Given the description of an element on the screen output the (x, y) to click on. 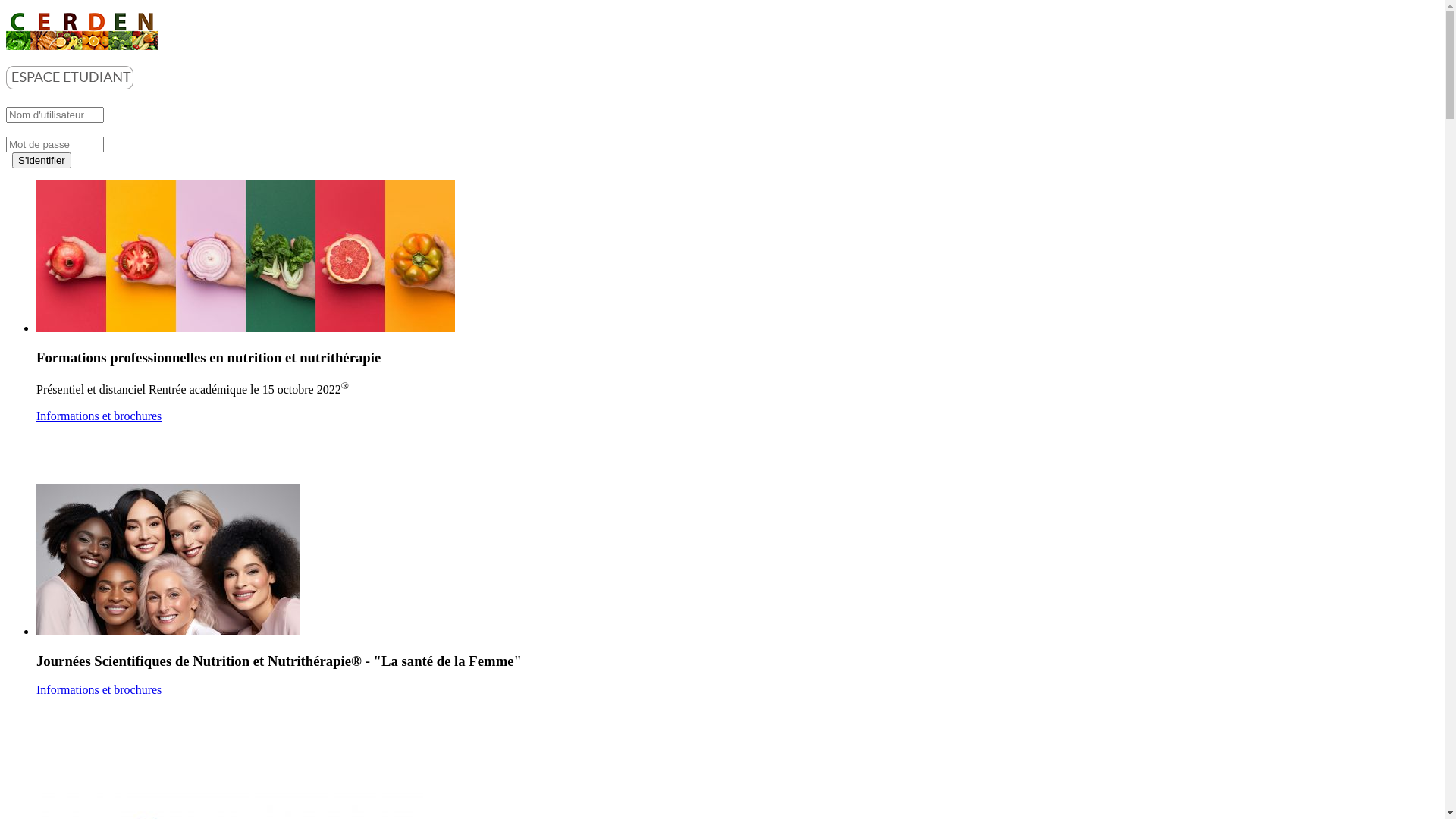
Informations et brochures Element type: text (98, 415)
Informations et brochures Element type: text (98, 689)
S'identifier Element type: text (41, 160)
